Given the description of an element on the screen output the (x, y) to click on. 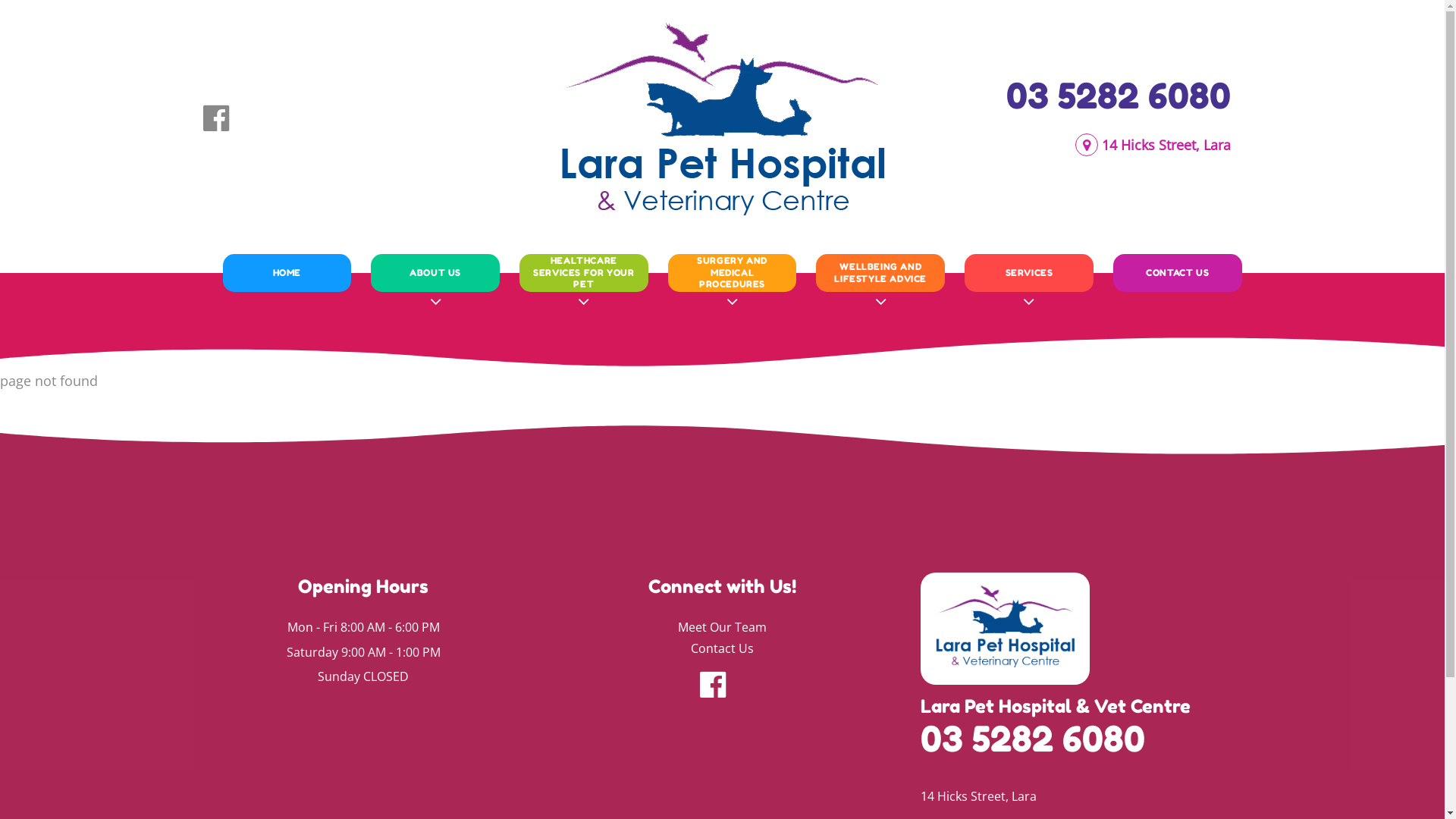
WELLBEING AND LIFESTYLE ADVICE Element type: text (880, 272)
HOME Element type: text (286, 272)
CONTACT US Element type: text (1177, 272)
03 5282 6080 Element type: text (1117, 95)
03 5282 6080 Element type: text (1032, 738)
Meet Our Team Element type: text (721, 627)
SERVICES Element type: text (1028, 272)
ABOUT US Element type: text (434, 272)
SURGERY AND MEDICAL PROCEDURES Element type: text (732, 272)
HEALTHCARE SERVICES FOR YOUR PET Element type: text (583, 272)
Contact Us Element type: text (721, 648)
